Given the description of an element on the screen output the (x, y) to click on. 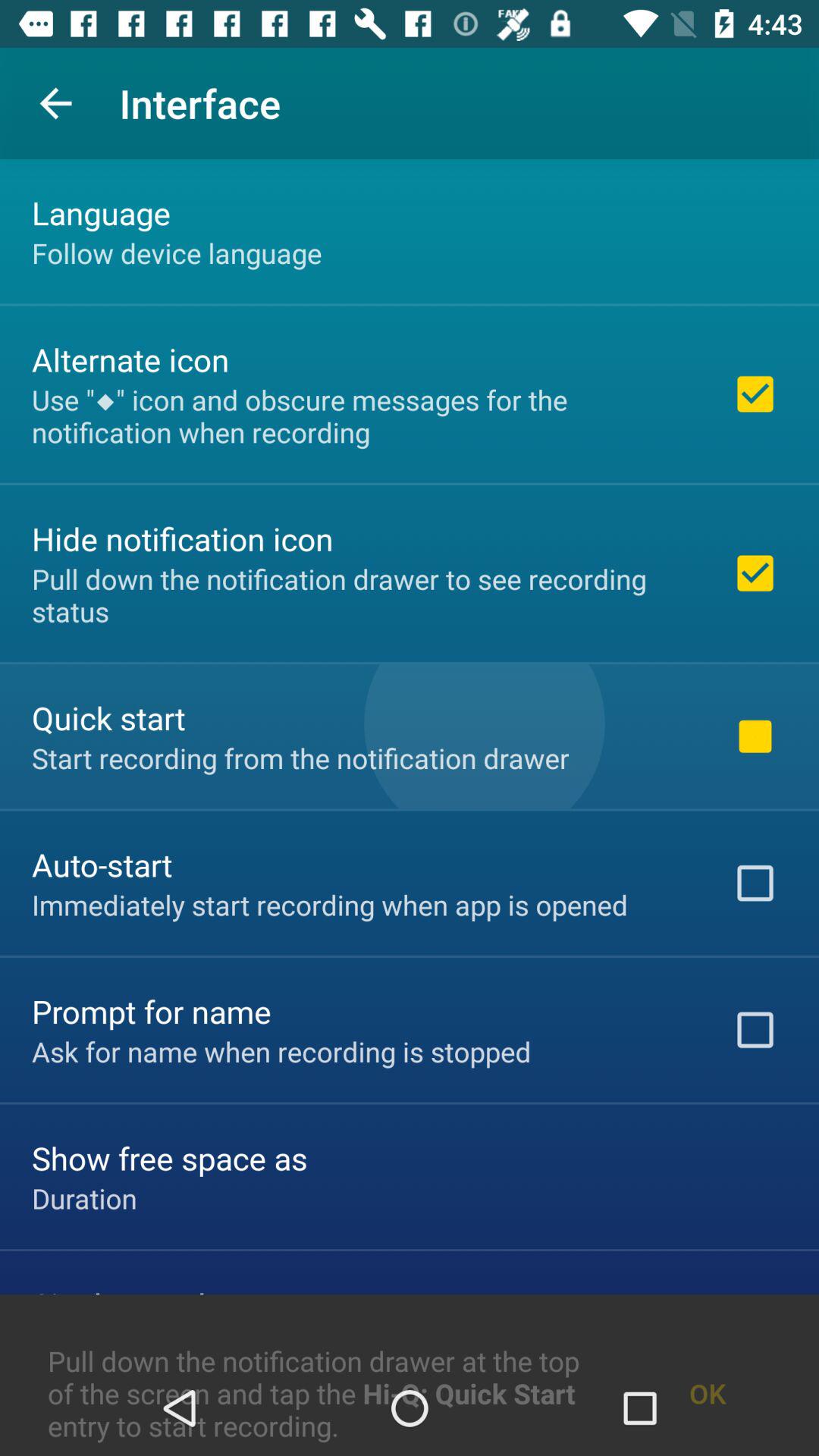
launch the item to the right of the pull down the icon (707, 1356)
